Given the description of an element on the screen output the (x, y) to click on. 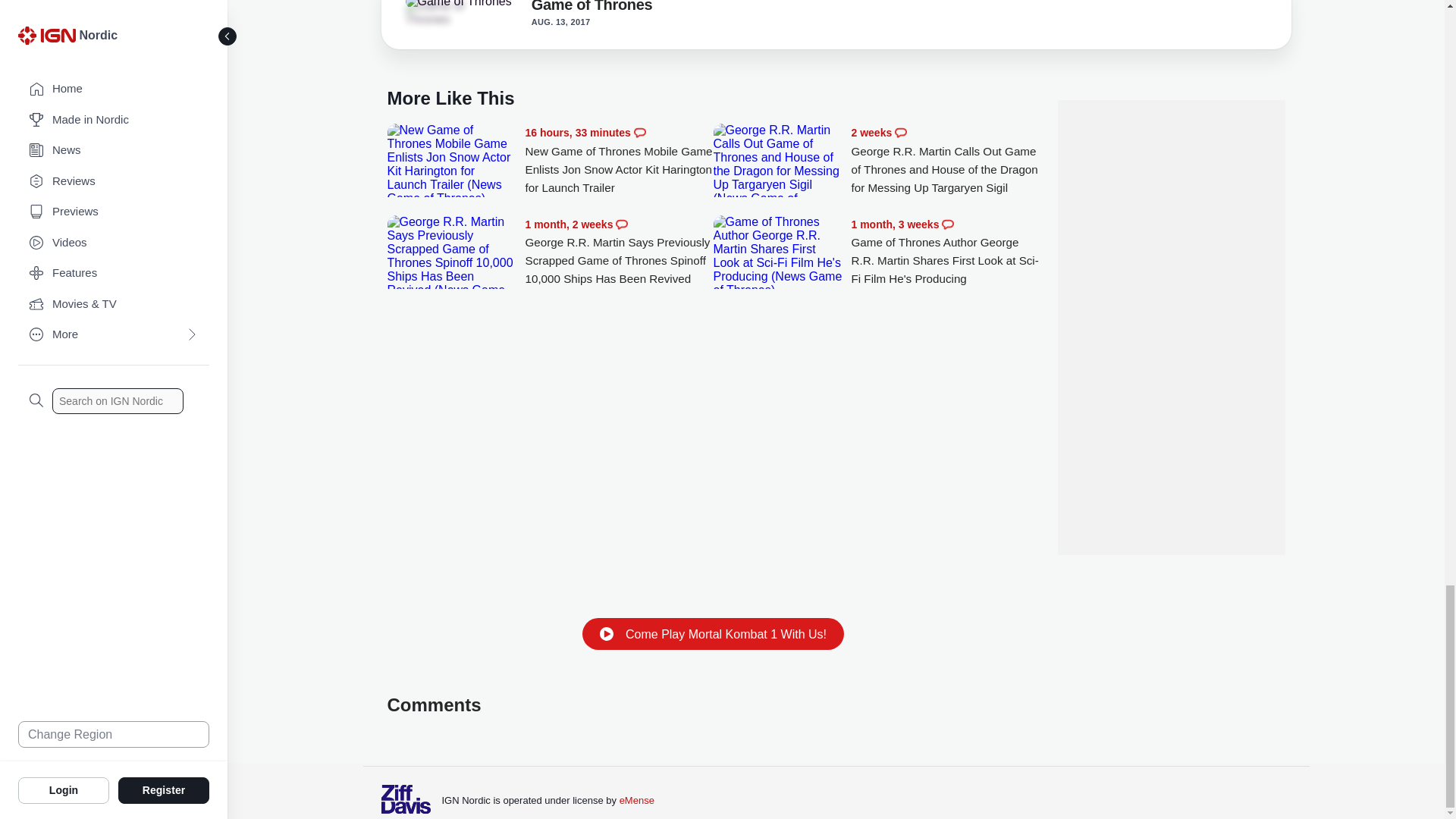
Comments (901, 132)
Comments (639, 132)
Comments (947, 224)
Game of Thrones (591, 9)
Comments (621, 224)
Game of Thrones (448, 13)
Game of Thrones (457, 4)
